Given the description of an element on the screen output the (x, y) to click on. 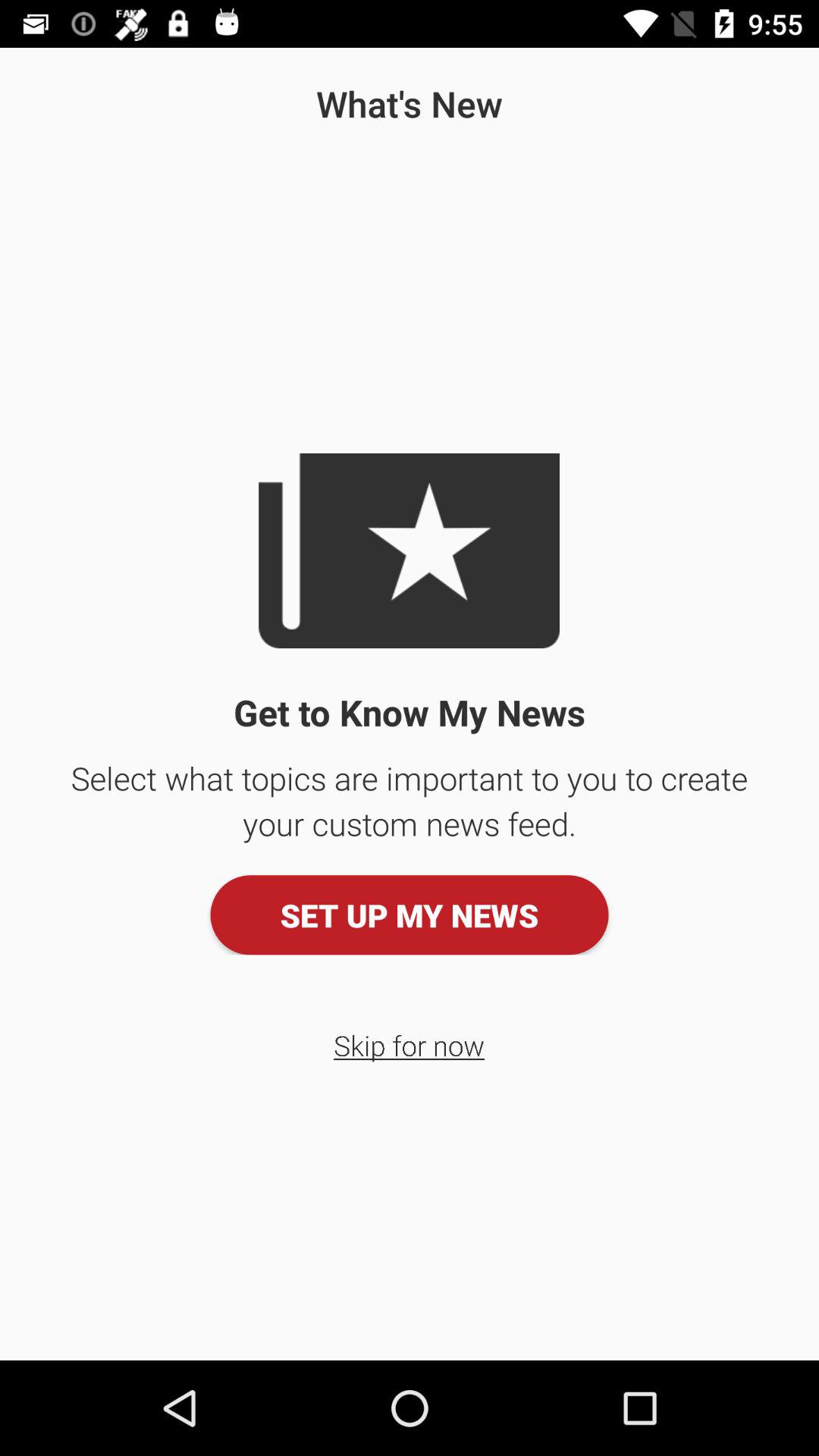
choose app below select what topics item (409, 914)
